Given the description of an element on the screen output the (x, y) to click on. 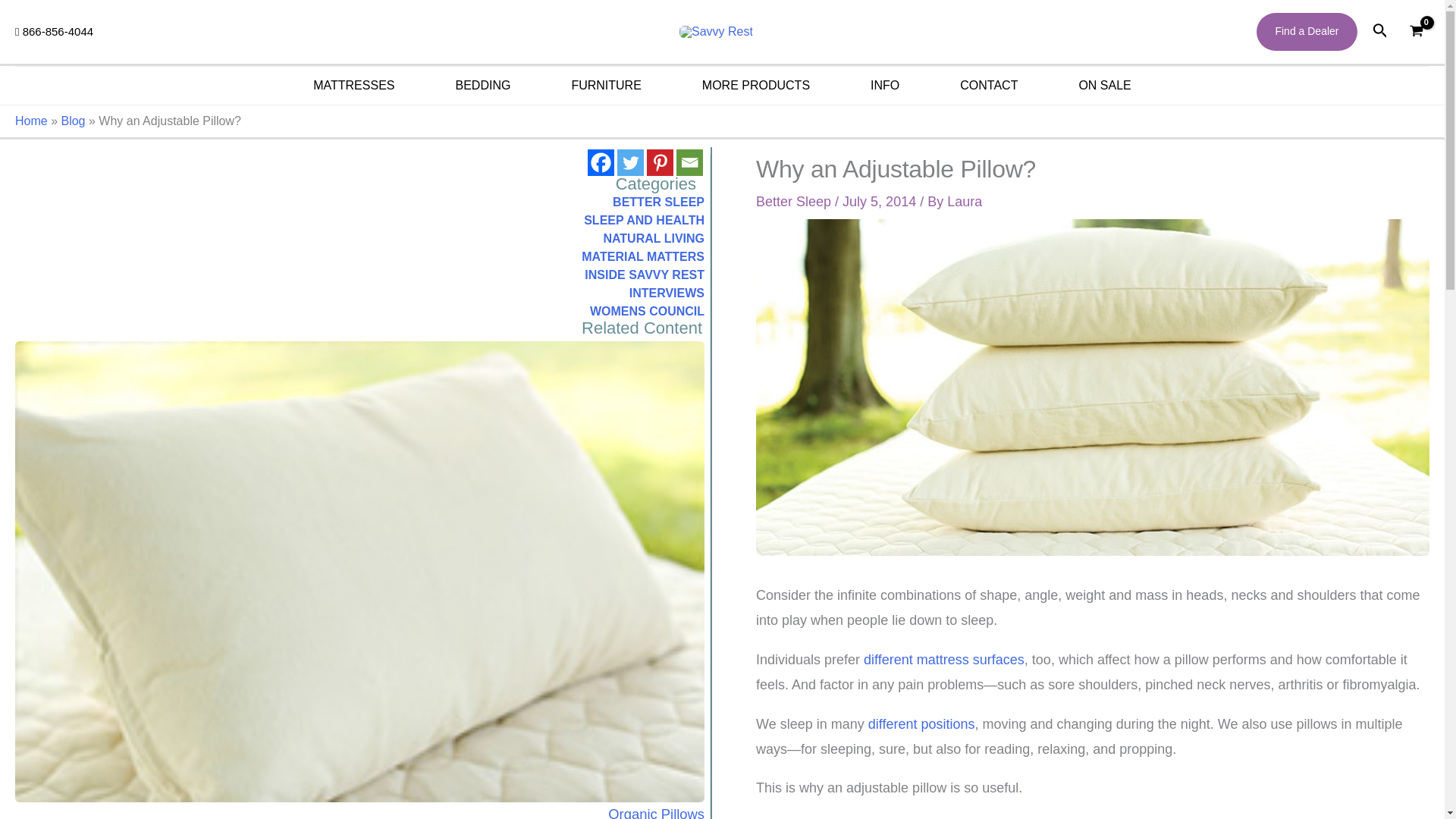
BEDDING (482, 85)
Email (690, 162)
Twitter (630, 162)
Pinterest (659, 162)
Facebook (601, 162)
MATTRESSES (353, 85)
View all posts by Laura (964, 201)
Find a Dealer (1306, 31)
